Given the description of an element on the screen output the (x, y) to click on. 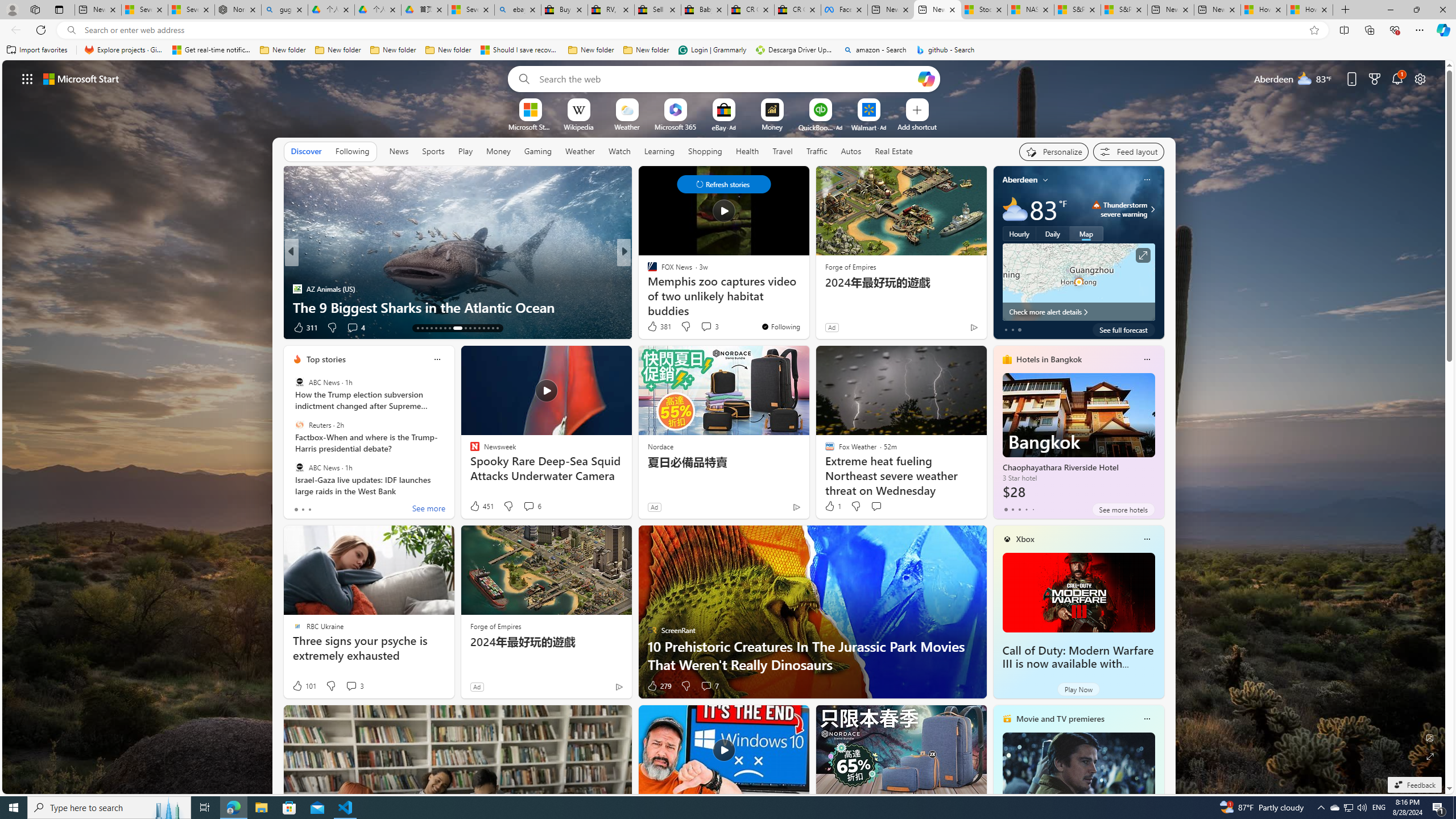
github - Search (945, 49)
View comments 7 Comment (709, 685)
Watch (619, 151)
AutomationID: tab-24 (474, 328)
Play (465, 151)
69 Like (652, 327)
View comments 3 Comment (350, 685)
Open Copilot (925, 78)
See more (428, 509)
Microsoft rewards (1374, 78)
Tropics waking up in September (457, 307)
Personal Profile (12, 9)
Restore (1416, 9)
hotels-header-icon (1006, 358)
